Given the description of an element on the screen output the (x, y) to click on. 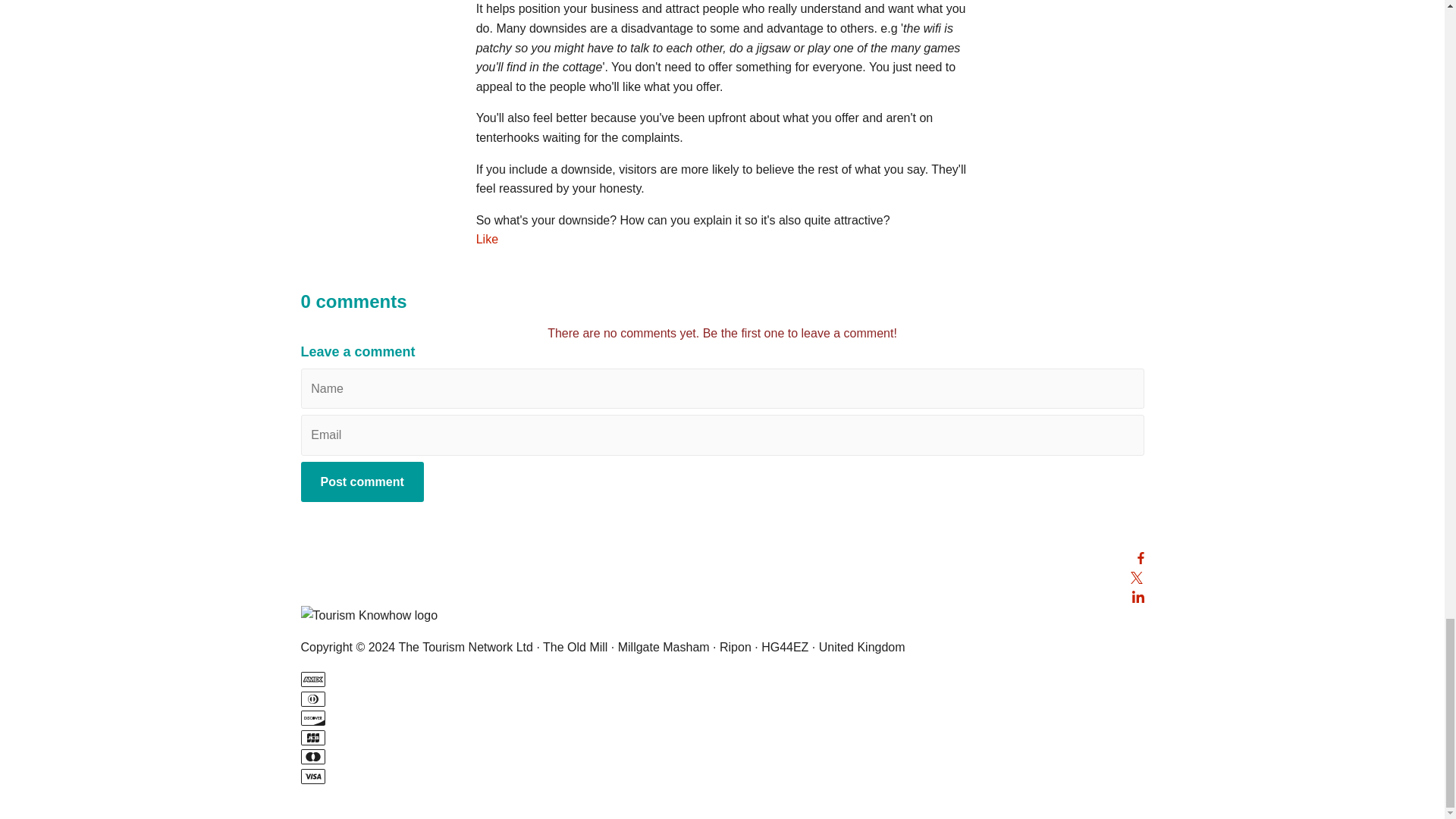
Like (486, 238)
Post comment (361, 481)
LinkedIn (1136, 594)
X (1135, 576)
Post comment (361, 481)
